Given the description of an element on the screen output the (x, y) to click on. 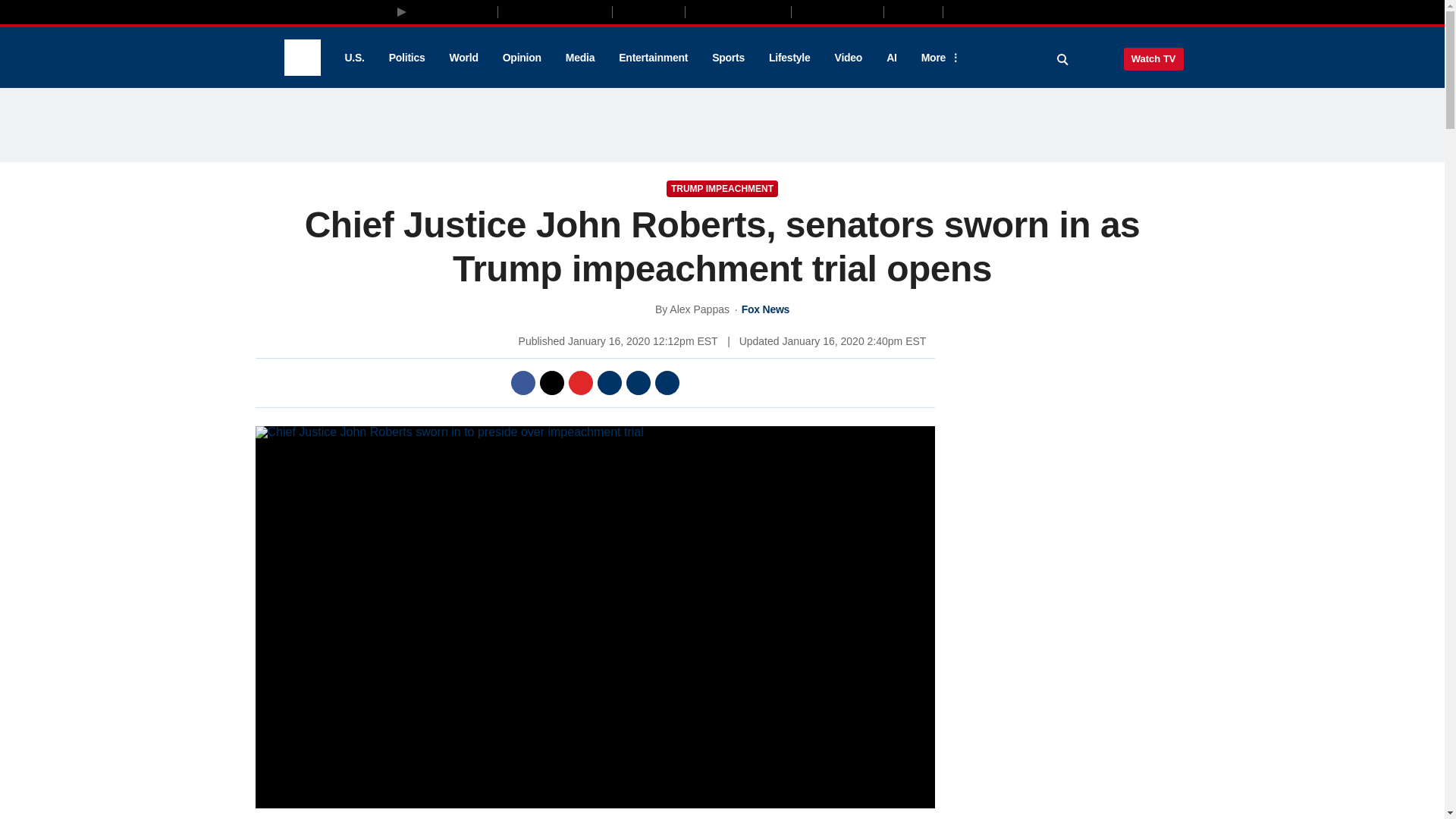
Media (580, 57)
Watch TV (1153, 58)
Fox News Audio (737, 11)
Sports (728, 57)
Books (1007, 11)
Fox News Media (453, 11)
Lifestyle (789, 57)
Fox Weather (836, 11)
U.S. (353, 57)
Entertainment (653, 57)
